Given the description of an element on the screen output the (x, y) to click on. 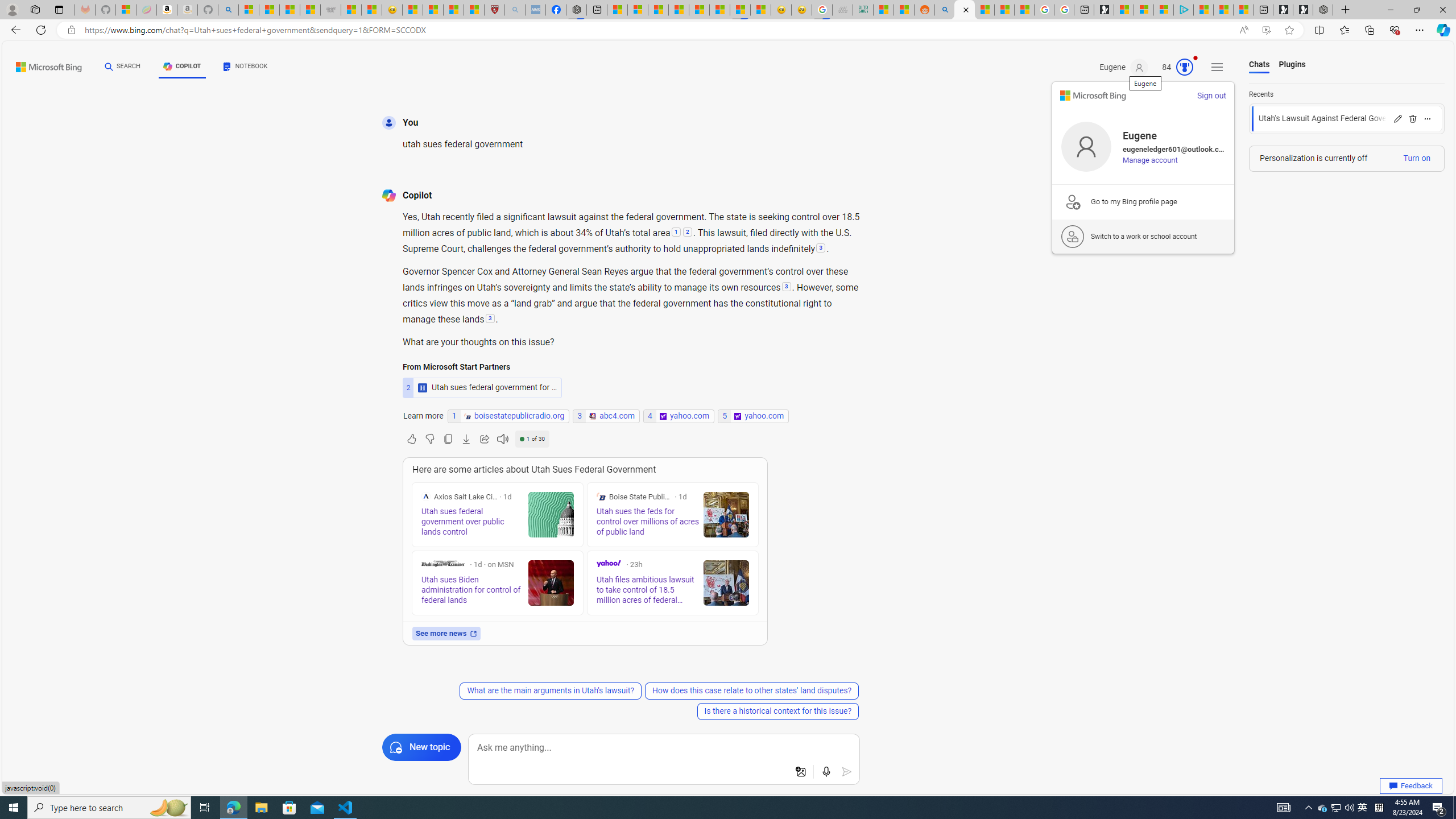
Bing Pages Upsell Logo (1072, 201)
New topic (421, 746)
Share (484, 438)
